Given the description of an element on the screen output the (x, y) to click on. 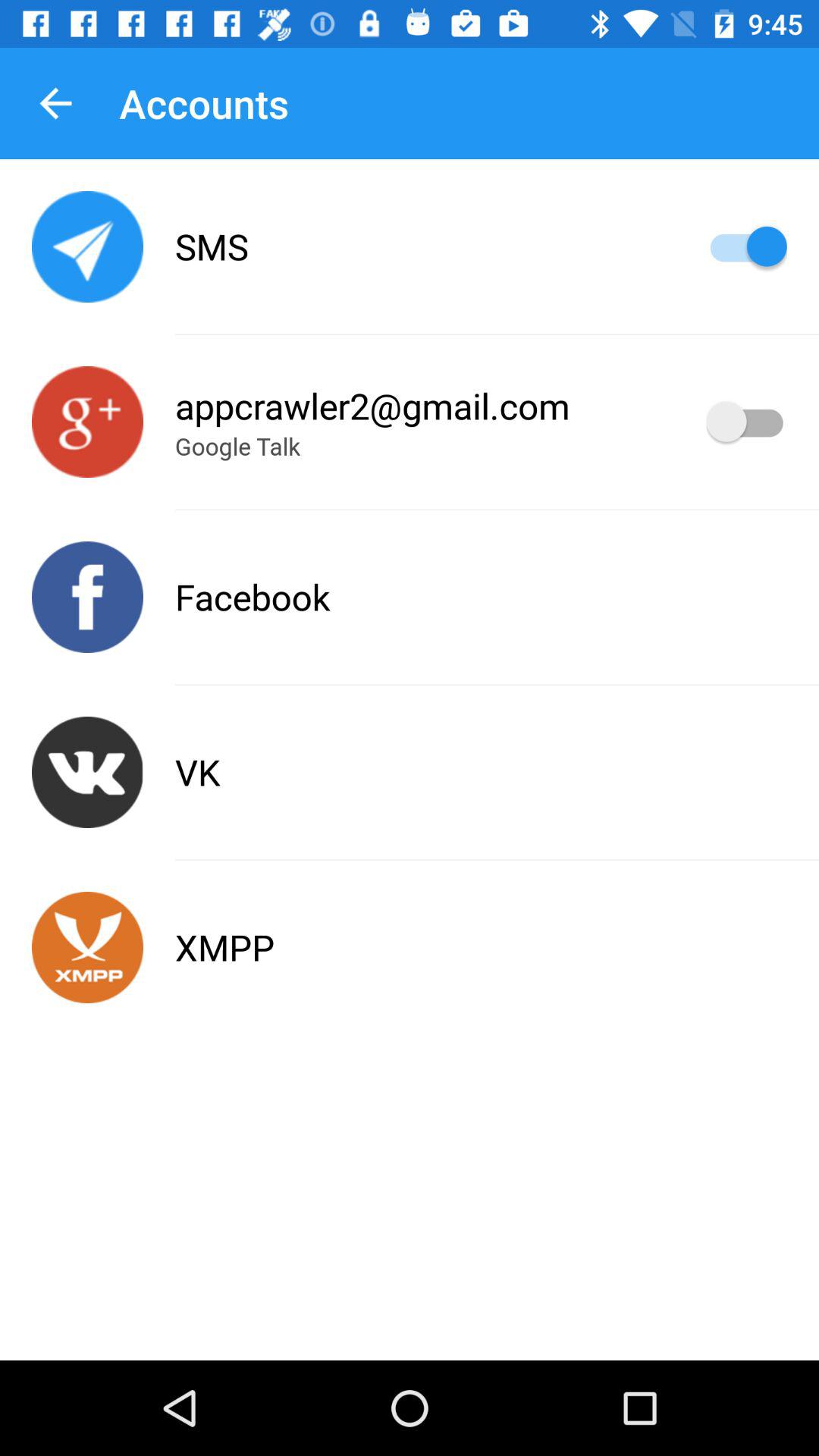
go to facebook page (87, 596)
